Given the description of an element on the screen output the (x, y) to click on. 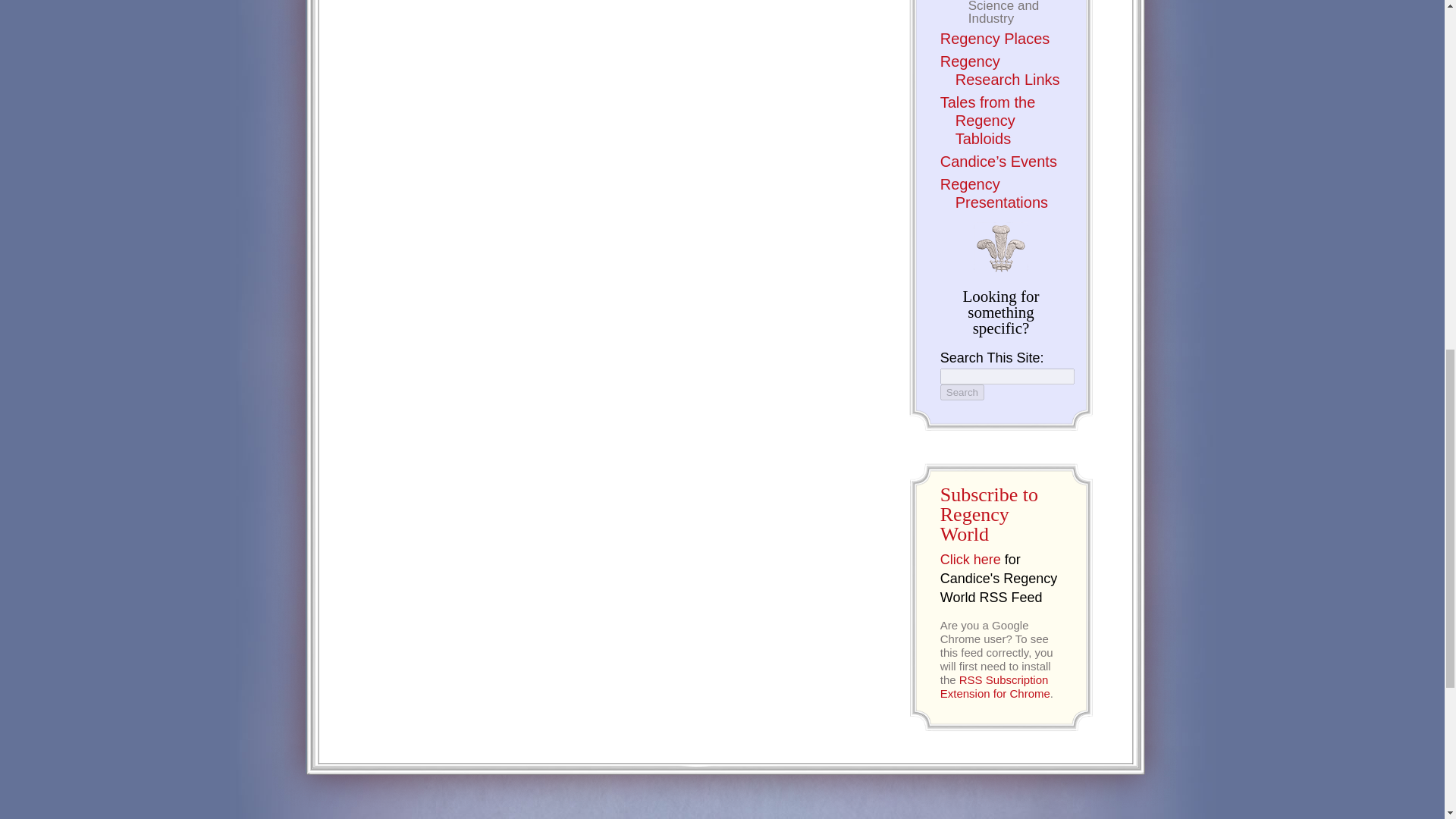
Subscribe to Regency World (989, 514)
Regency Presentations (994, 193)
Tales from the Regency Tabloids (987, 120)
RSS Subscription Extension for Chrome (994, 686)
Leaders in Science and Industry (997, 12)
Click here (970, 559)
Regency Research Links (999, 70)
Search (962, 392)
Search (962, 392)
Regency Places (994, 38)
